Given the description of an element on the screen output the (x, y) to click on. 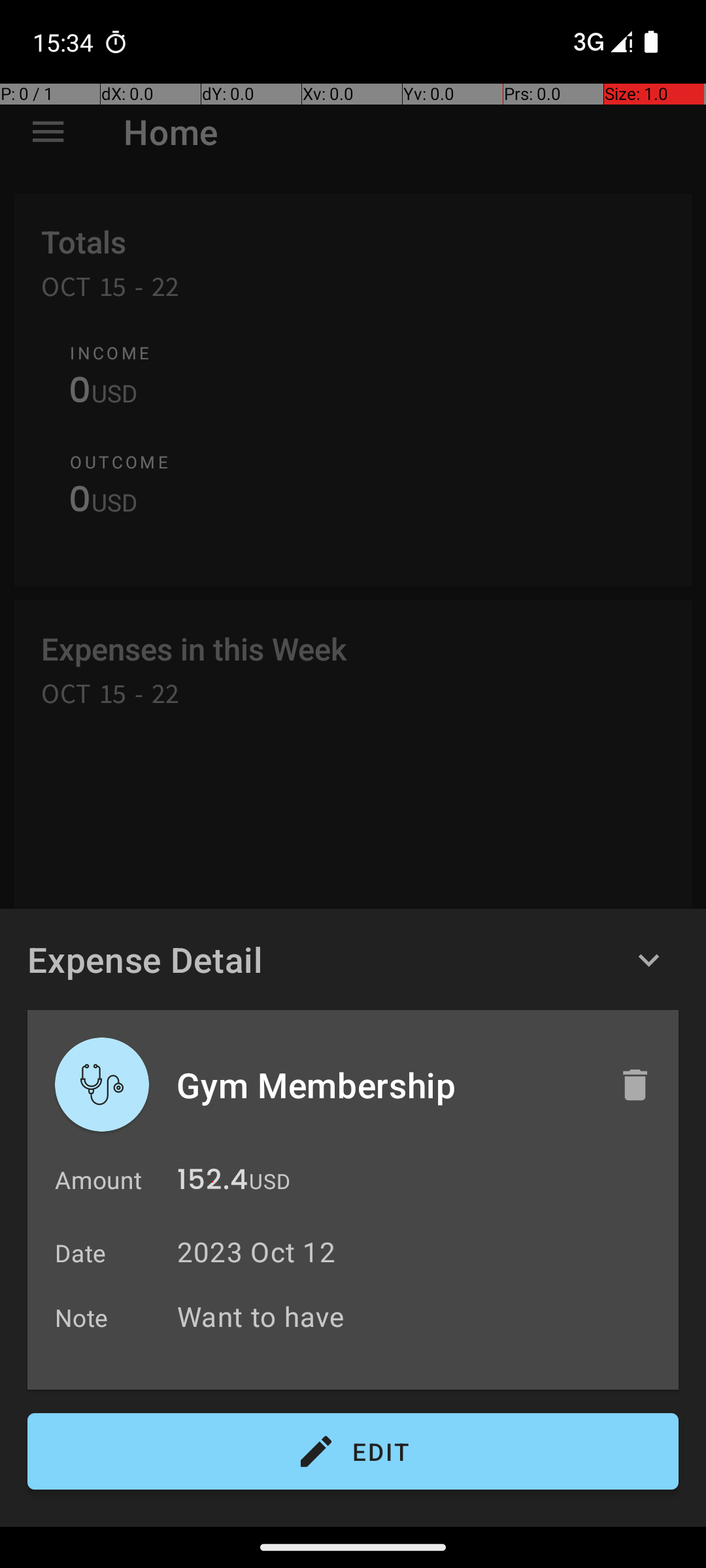
Gym Membership Element type: android.widget.TextView (383, 1084)
152.4 Element type: android.widget.TextView (212, 1182)
